Given the description of an element on the screen output the (x, y) to click on. 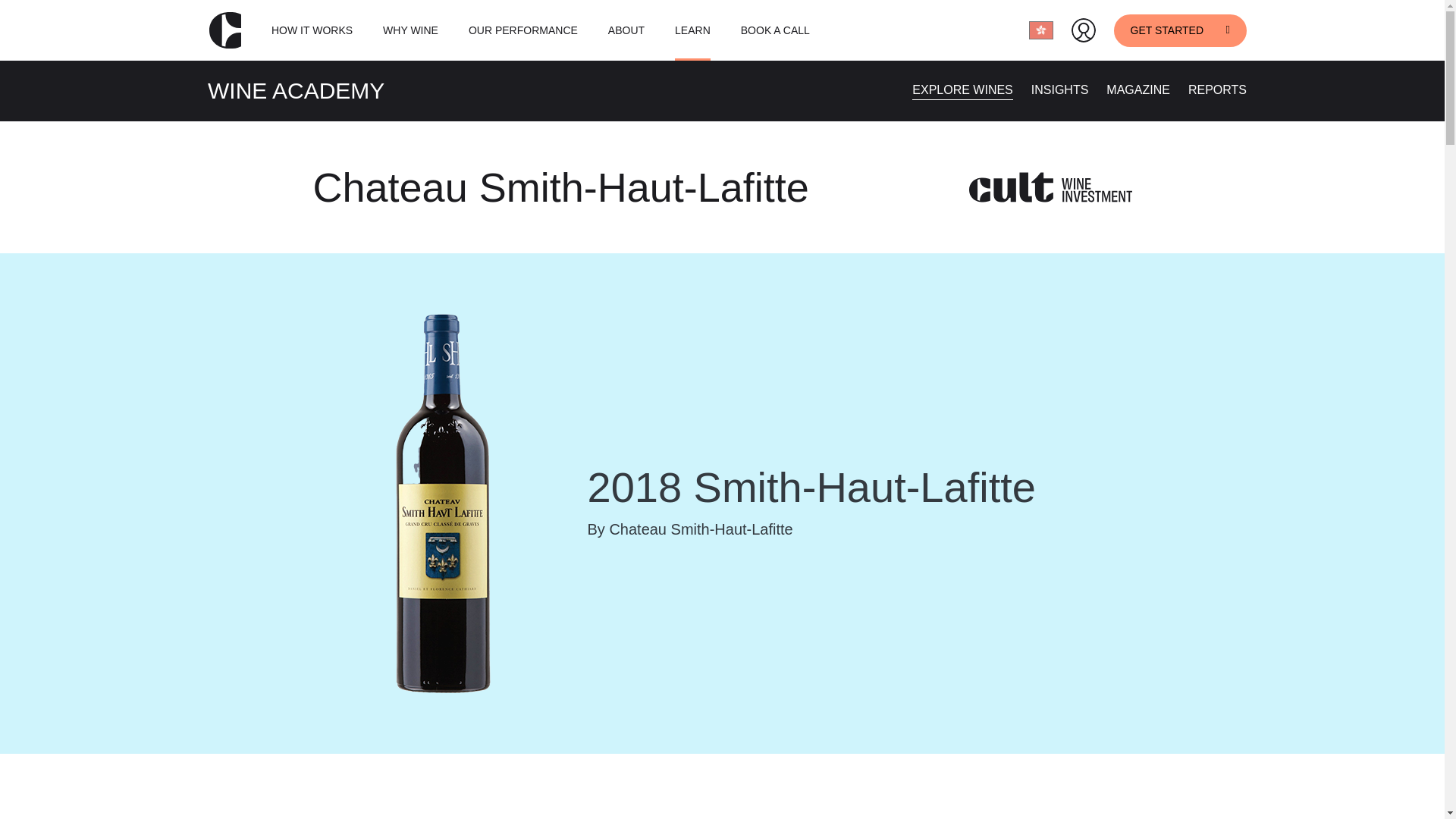
INSIGHTS (1059, 90)
HOW IT WORKS (311, 30)
EXPLORE WINES (961, 90)
OUR PERFORMANCE (523, 30)
MAGAZINE (1138, 90)
REPORTS (1217, 90)
BOOK A CALL (775, 30)
WHY WINE (410, 30)
Chateau Smith-Haut-Lafitte (561, 186)
GET STARTED (1179, 29)
WINE ACADEMY (296, 90)
